Given the description of an element on the screen output the (x, y) to click on. 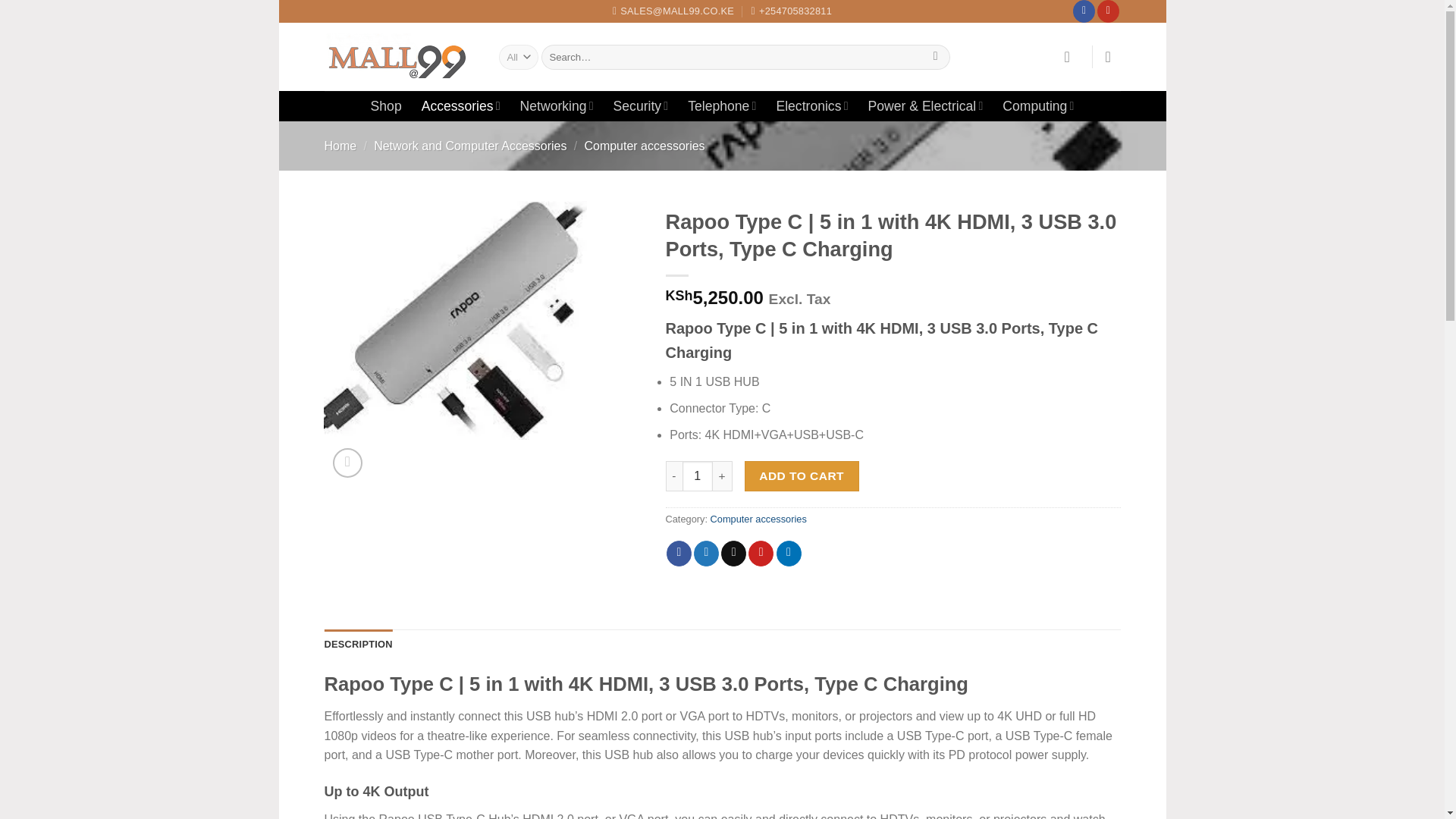
Share on Facebook (678, 553)
Zoom (347, 462)
Networking (556, 105)
Accessories (461, 105)
Share on Twitter (706, 553)
Pin on Pinterest (760, 553)
Email to a Friend (732, 553)
1 (697, 476)
Shop (386, 105)
